Given the description of an element on the screen output the (x, y) to click on. 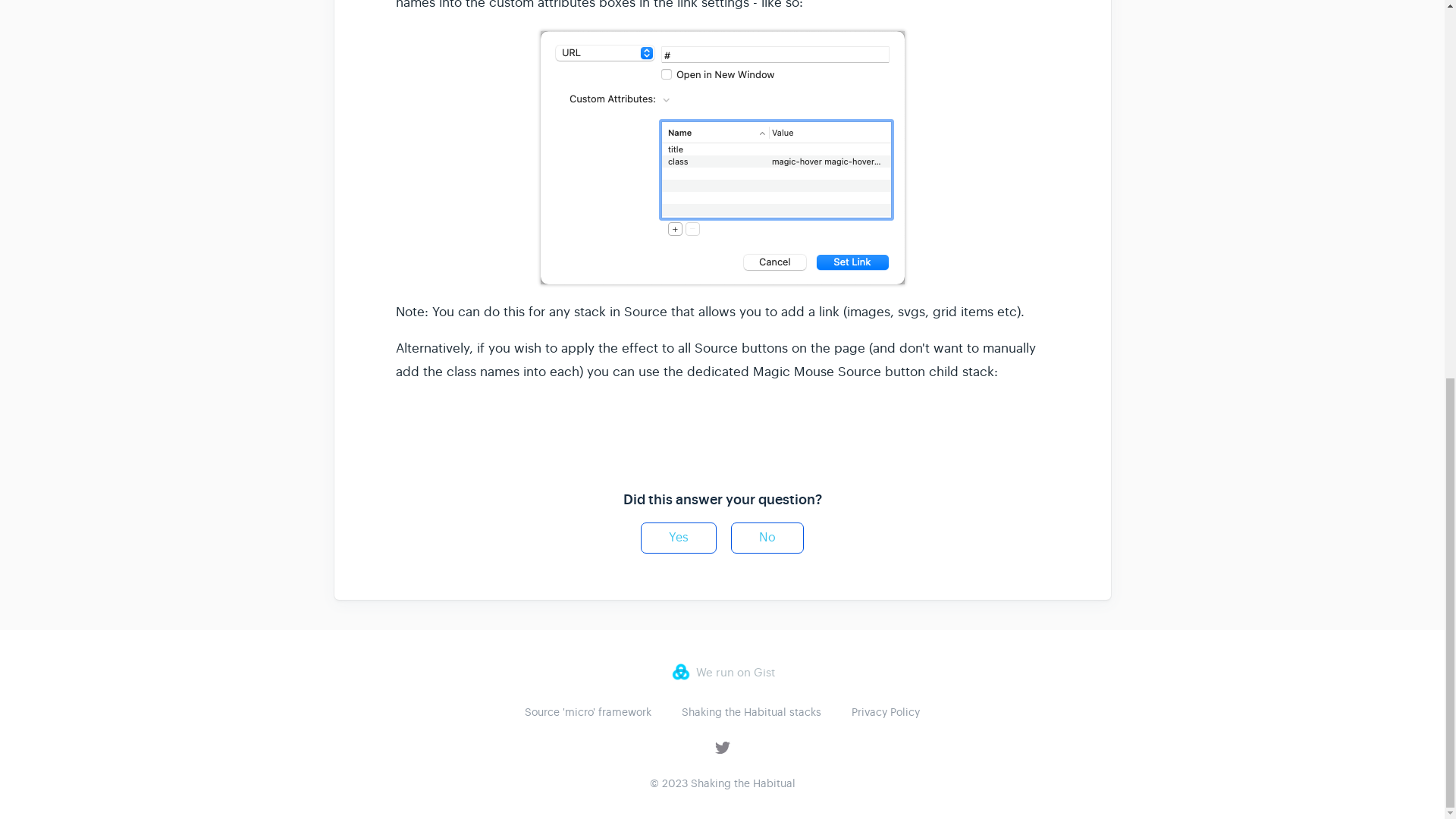
Privacy Policy (885, 712)
No (766, 537)
Shaking the Habitual stacks (751, 712)
We run on Gist (721, 671)
Yes (678, 537)
Source 'micro' framework (587, 712)
